Given the description of an element on the screen output the (x, y) to click on. 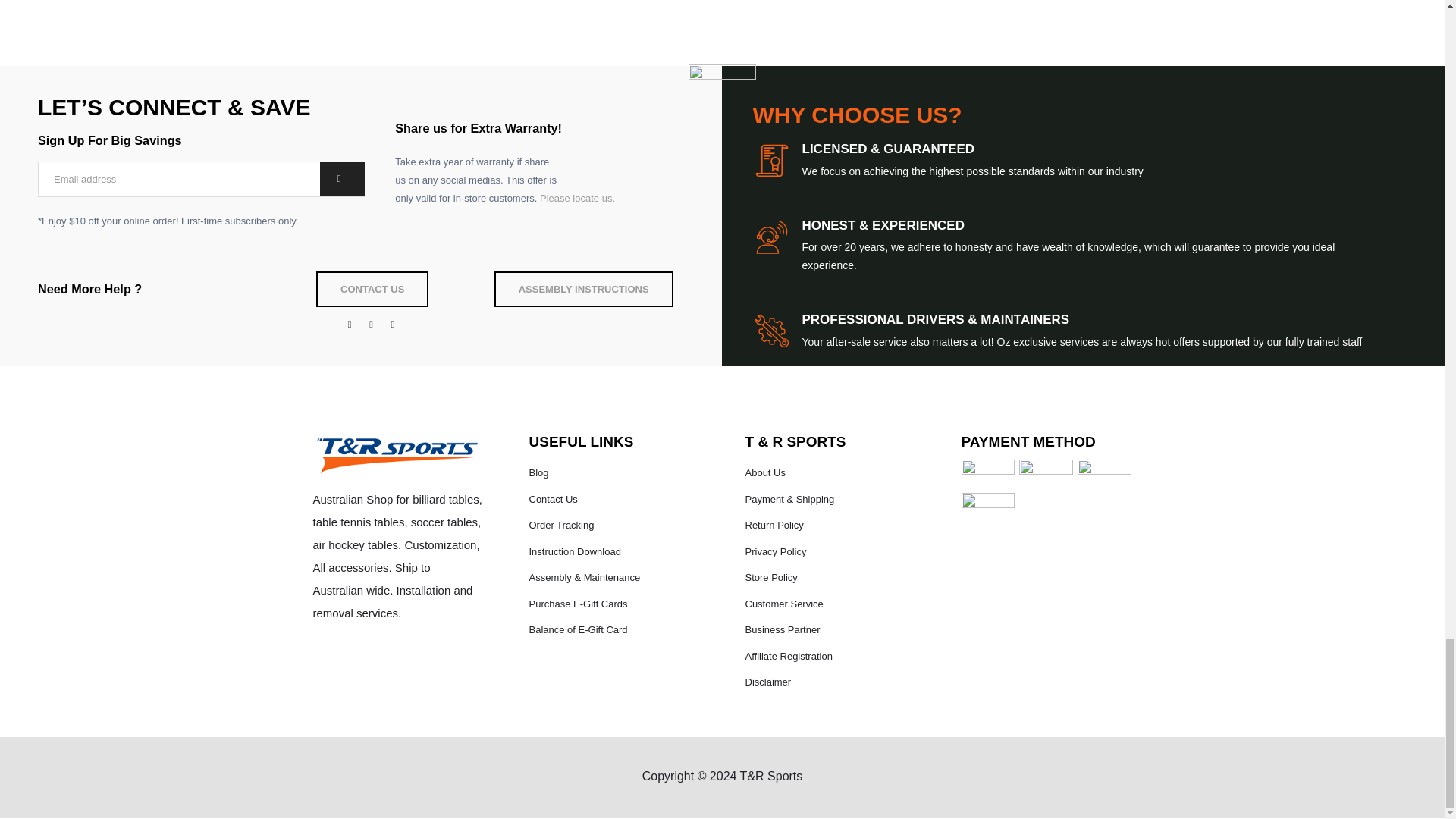
Subscribe (342, 178)
